Given the description of an element on the screen output the (x, y) to click on. 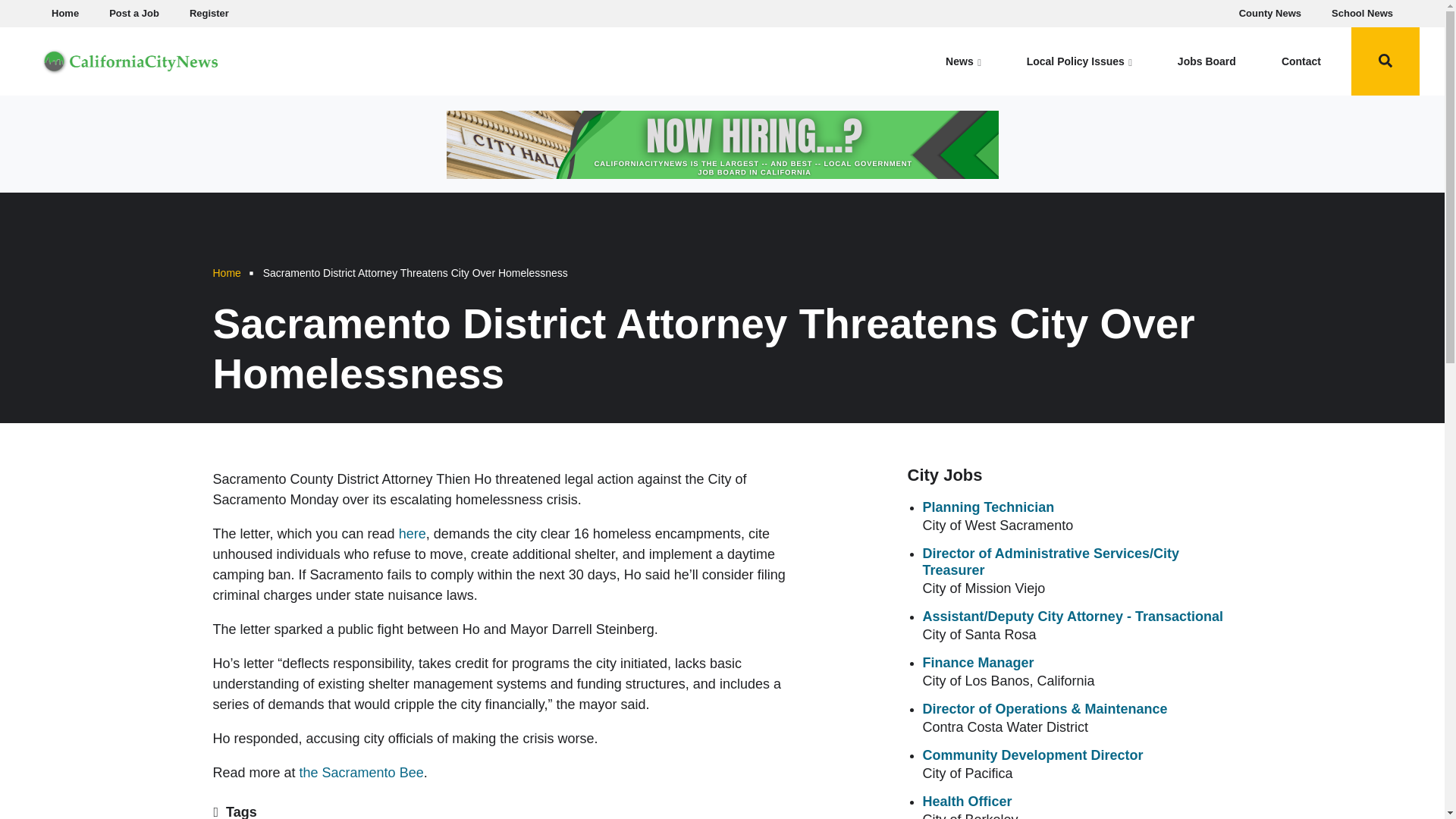
Post a Job (134, 13)
here (412, 533)
School News (1361, 13)
Register (208, 13)
Home (130, 59)
Jobs Board (1206, 61)
Home (226, 272)
County News (1269, 13)
Home (64, 13)
